Given the description of an element on the screen output the (x, y) to click on. 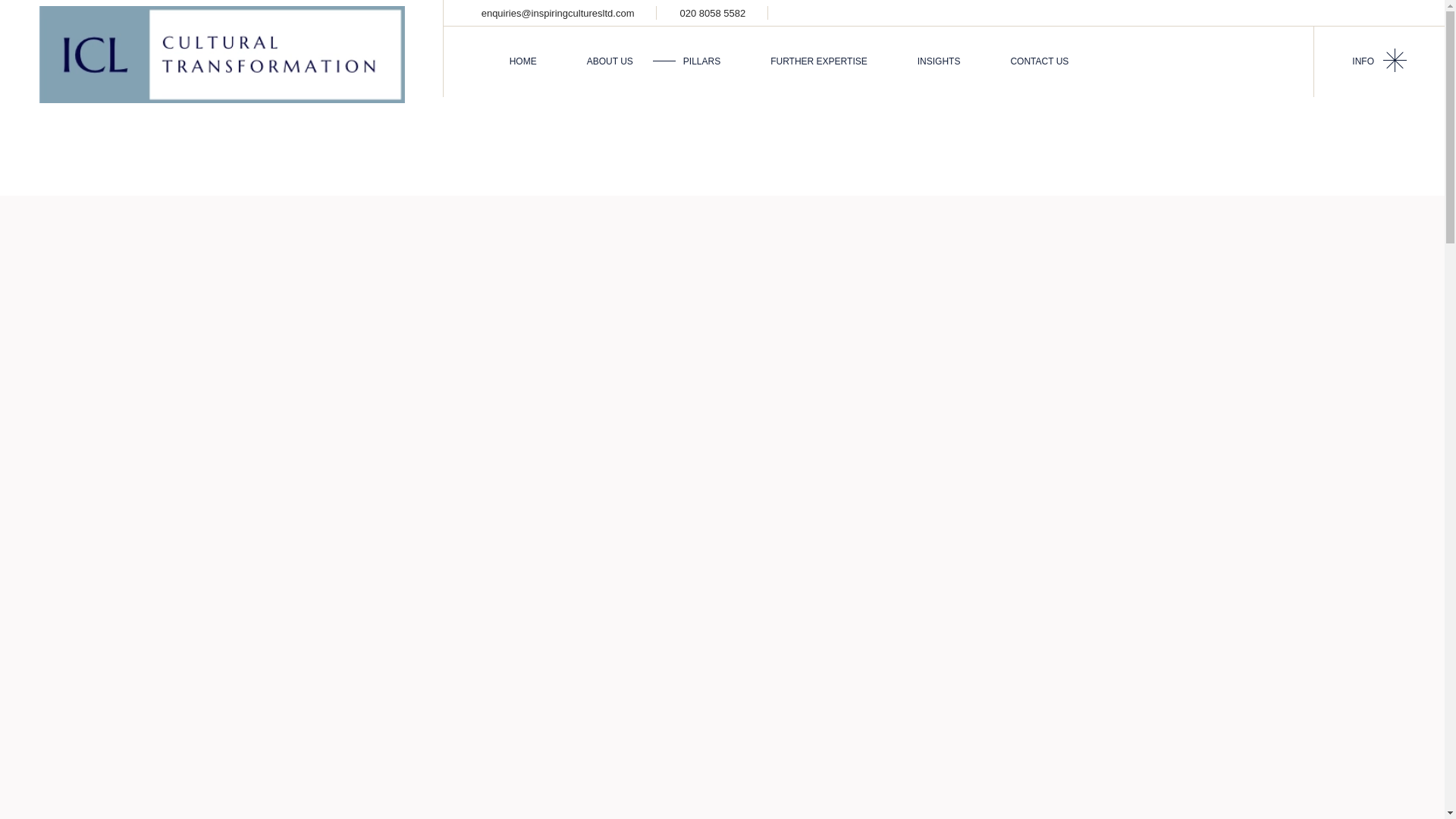
020 8058 5582 (712, 12)
FURTHER EXPERTISE (818, 61)
INFO (1379, 61)
